Given the description of an element on the screen output the (x, y) to click on. 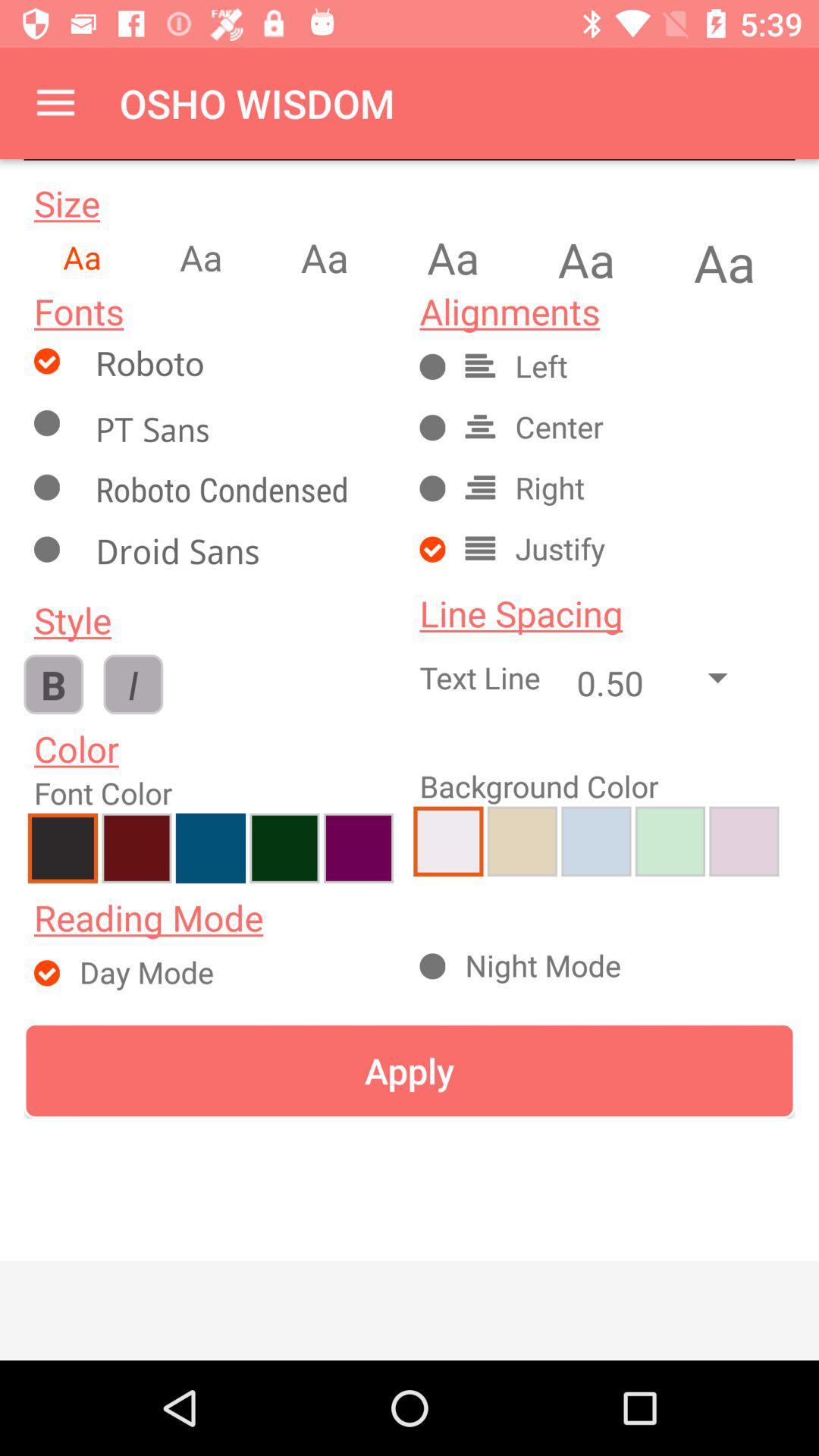
checks box (239, 429)
